Given the description of an element on the screen output the (x, y) to click on. 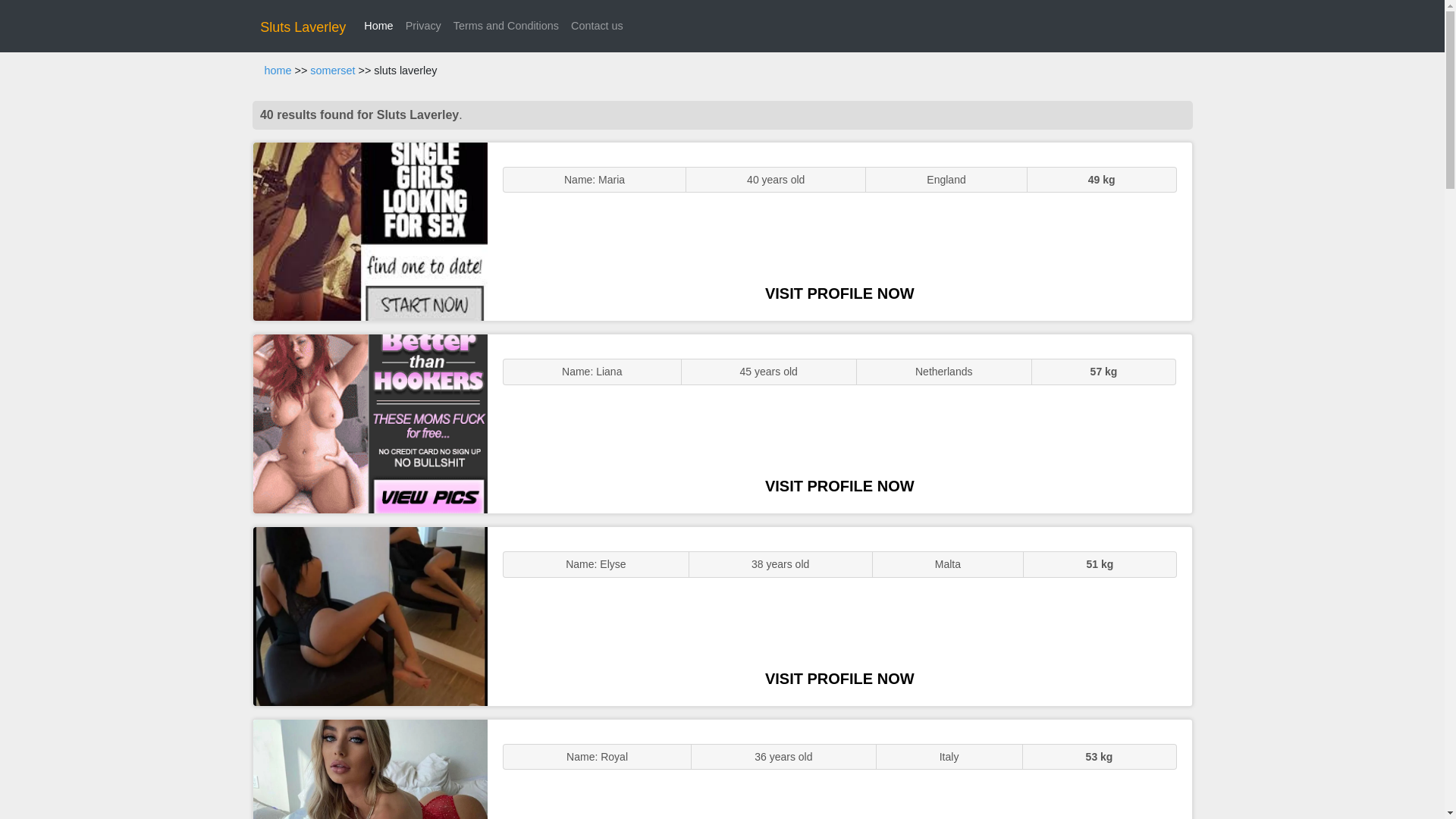
Privacy (422, 25)
Contact us (596, 25)
GFE (370, 423)
Sluts (370, 769)
VISIT PROFILE NOW (839, 678)
Sluts Laverley (303, 27)
Sexy (370, 616)
 ENGLISH STUNNER (370, 231)
VISIT PROFILE NOW (839, 485)
somerset (332, 70)
Terms and Conditions (505, 25)
home (277, 70)
VISIT PROFILE NOW (839, 293)
